Given the description of an element on the screen output the (x, y) to click on. 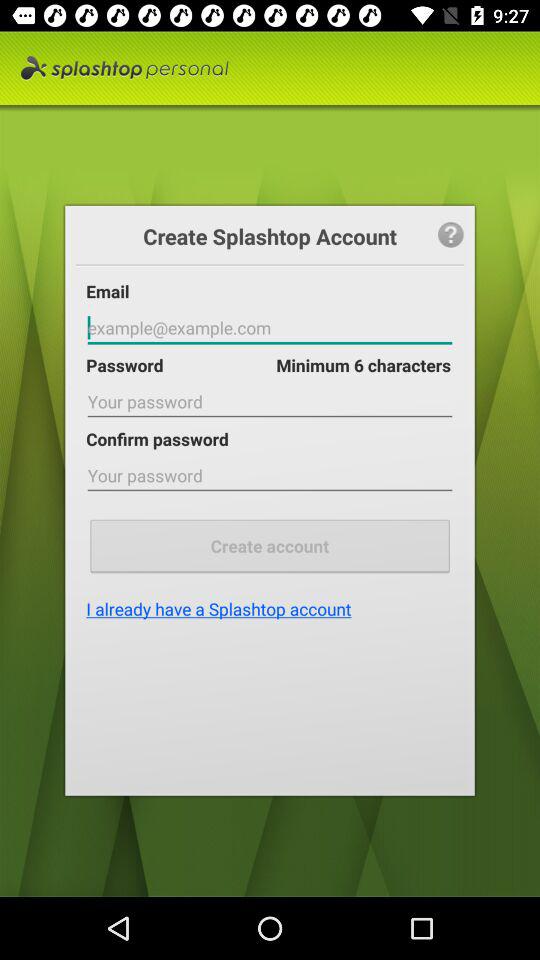
enter password confirmation (269, 475)
